Given the description of an element on the screen output the (x, y) to click on. 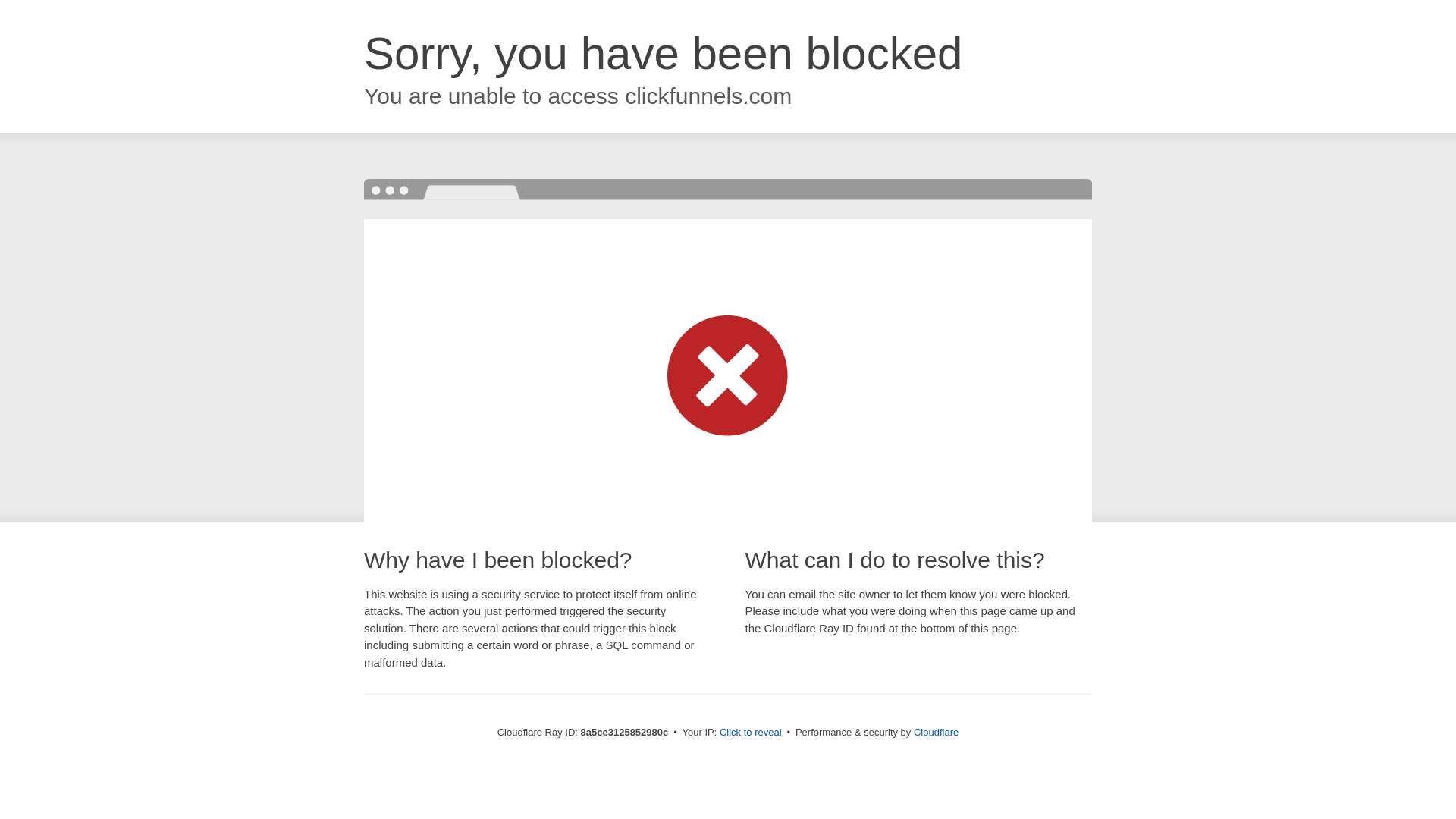
Cloudflare (936, 731)
Click to reveal (750, 732)
